Given the description of an element on the screen output the (x, y) to click on. 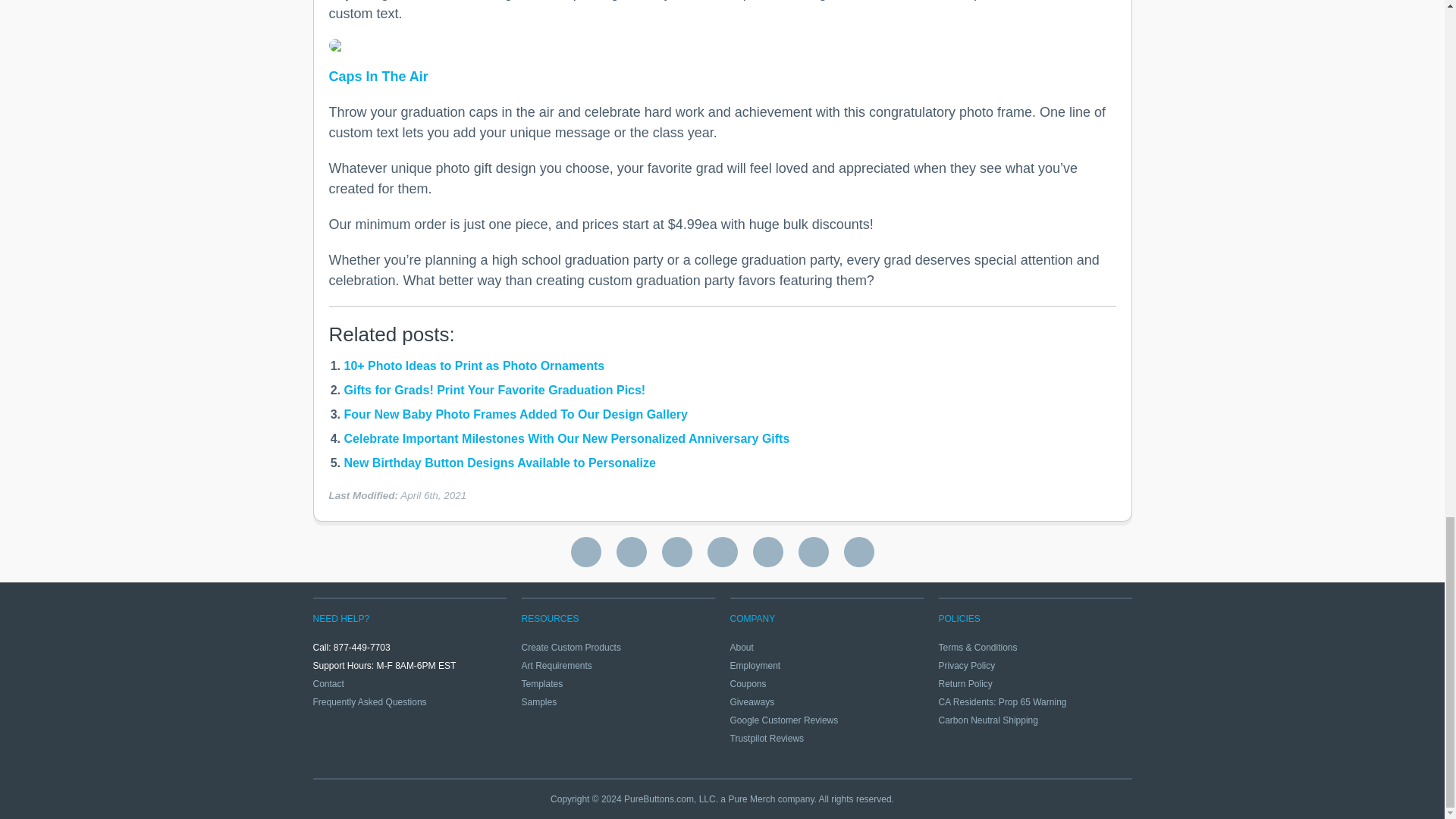
Gifts for Grads! Print Your Favorite Graduation Pics! (494, 390)
Four New Baby Photo Frames Added To Our Design Gallery (515, 413)
New Birthday Button Designs Available to Personalize (499, 462)
Pure Buttons Google Reviews (584, 552)
